Given the description of an element on the screen output the (x, y) to click on. 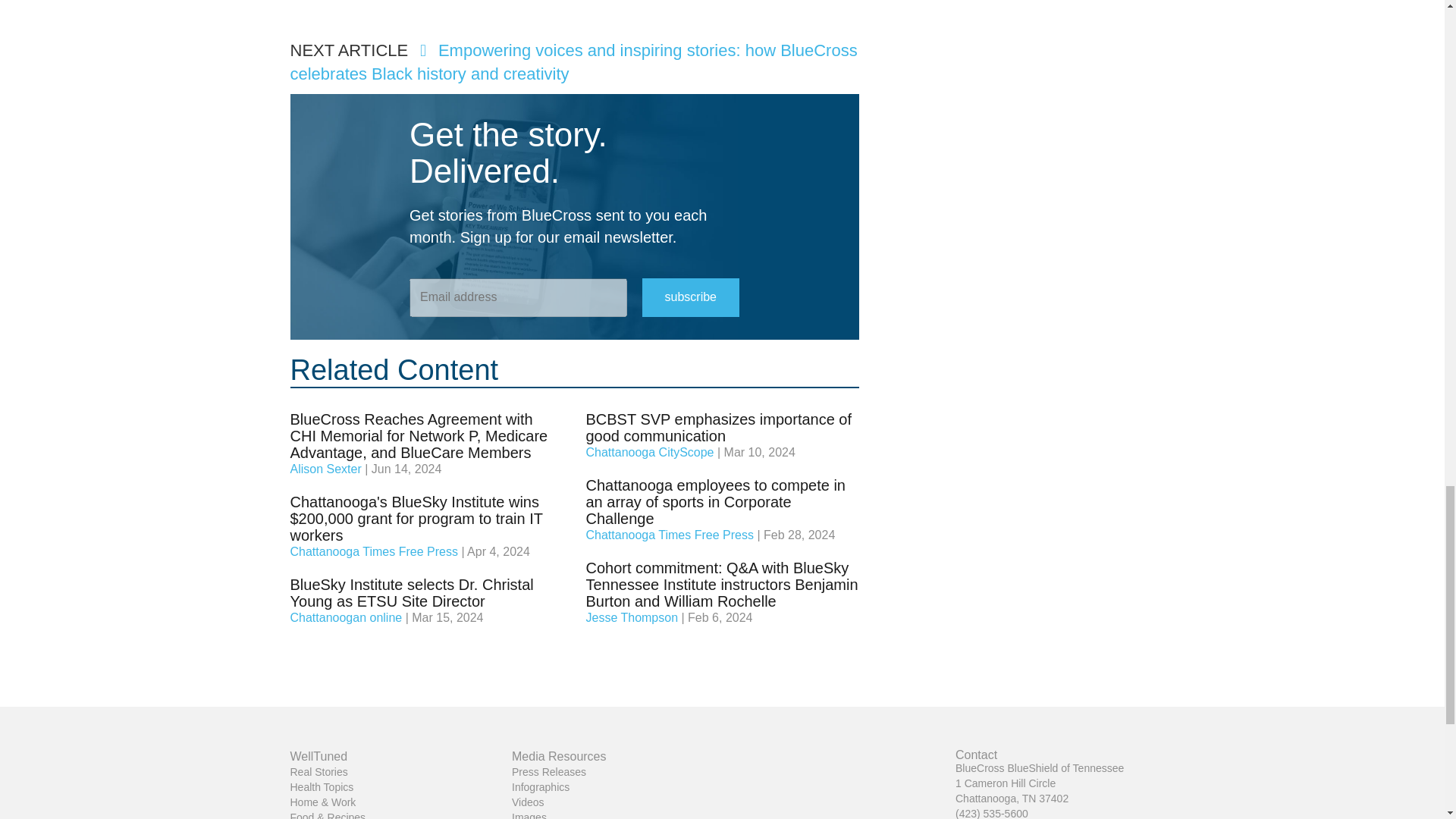
subscribe (690, 297)
subscribe (690, 297)
